Given the description of an element on the screen output the (x, y) to click on. 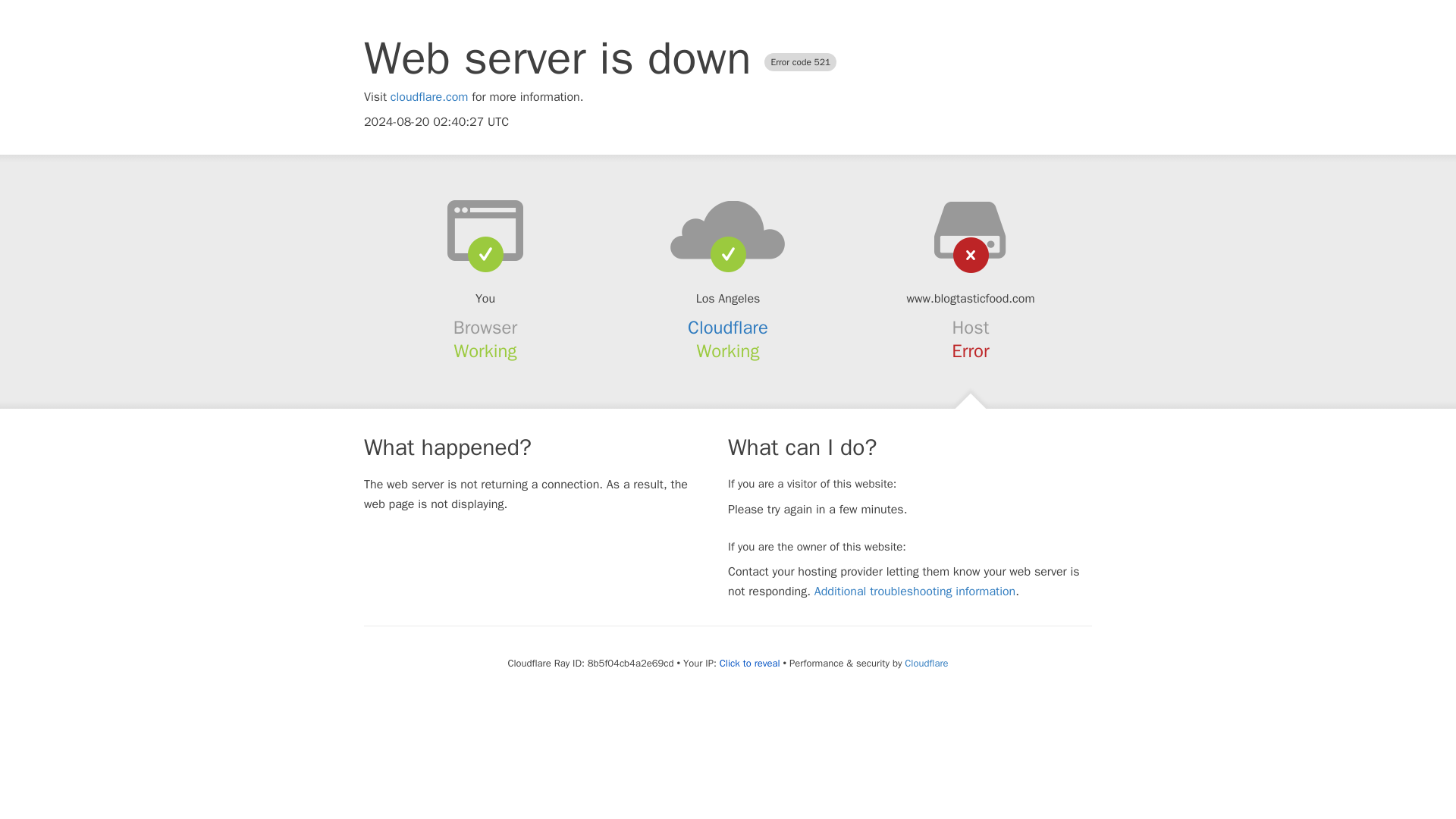
Additional troubleshooting information (913, 590)
Click to reveal (749, 663)
Cloudflare (727, 327)
cloudflare.com (429, 96)
Cloudflare (925, 662)
